Given the description of an element on the screen output the (x, y) to click on. 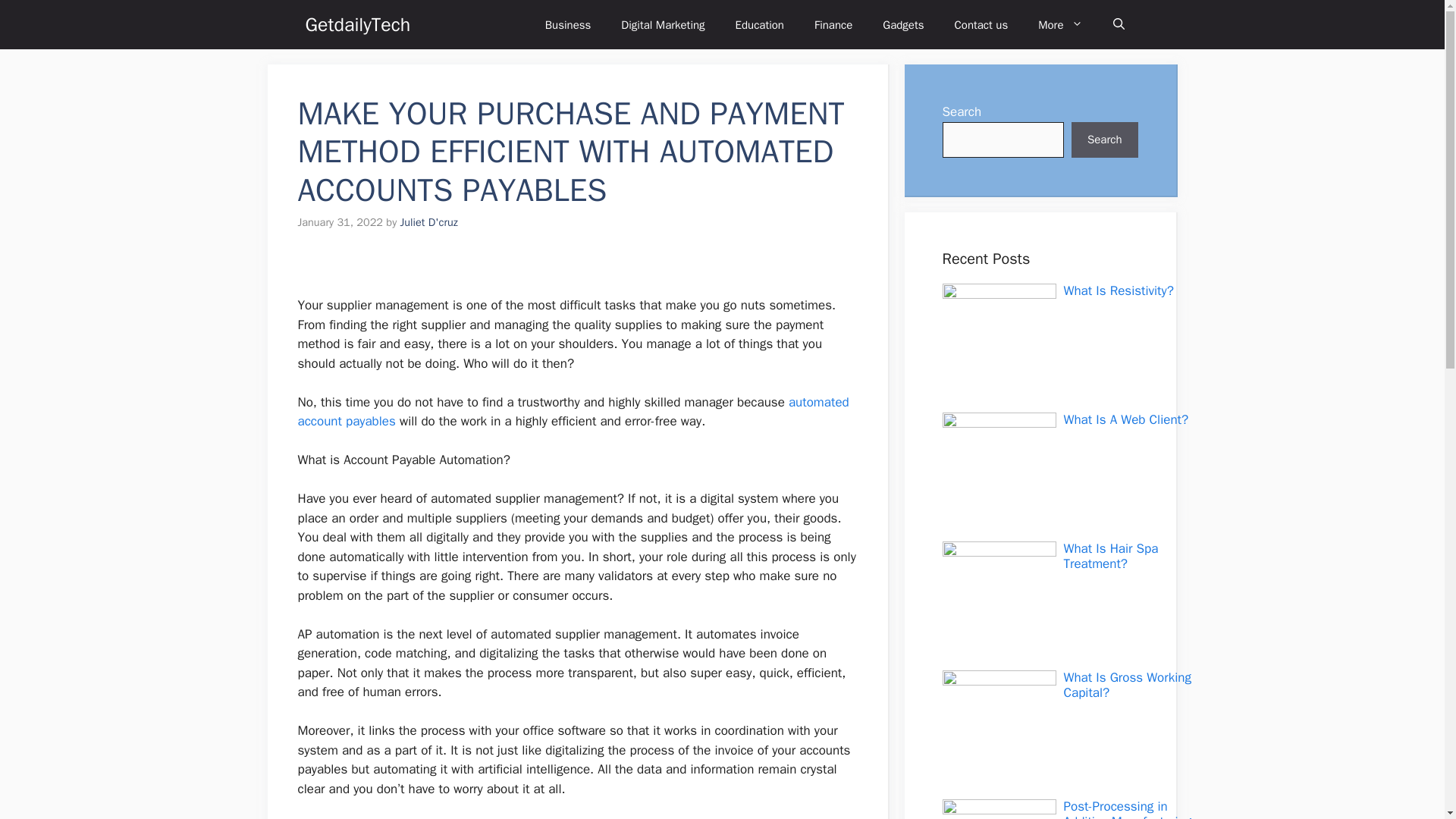
Search (1104, 139)
Digital Marketing (662, 23)
Post-Processing in Additive Manufacturing: What is it? (1128, 808)
What Is Hair Spa Treatment? (1109, 555)
What Is Resistivity? (1117, 290)
View all posts by Juliet D'cruz (429, 222)
Education (759, 23)
Finance (833, 23)
Gadgets (903, 23)
Contact us (981, 23)
automated account payables (572, 411)
Business (568, 23)
What Is Gross Working Capital? (1126, 685)
GetdailyTech (357, 24)
More (1060, 23)
